Given the description of an element on the screen output the (x, y) to click on. 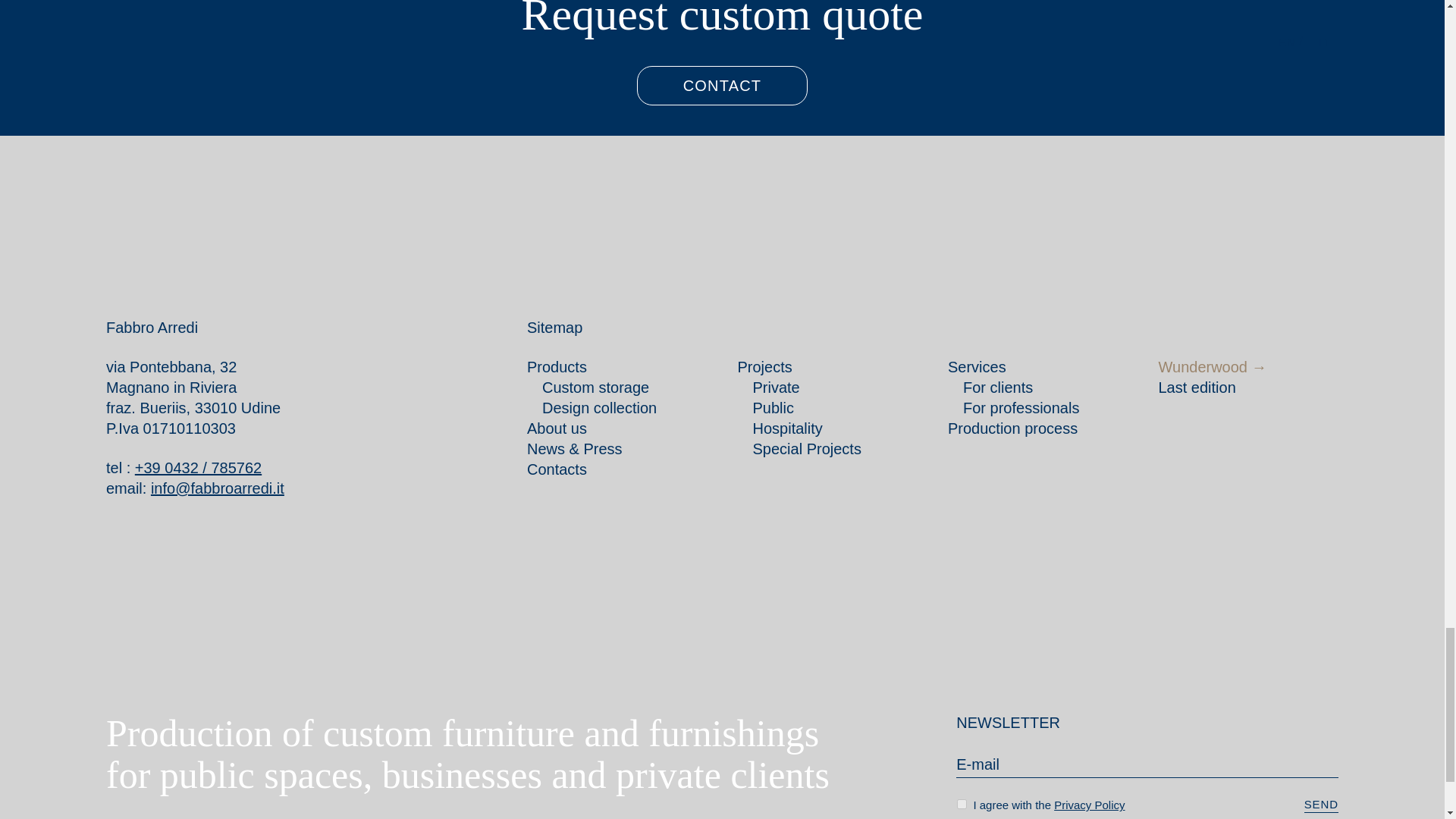
CONTACT (722, 85)
1 (962, 804)
Send (1321, 804)
